Given the description of an element on the screen output the (x, y) to click on. 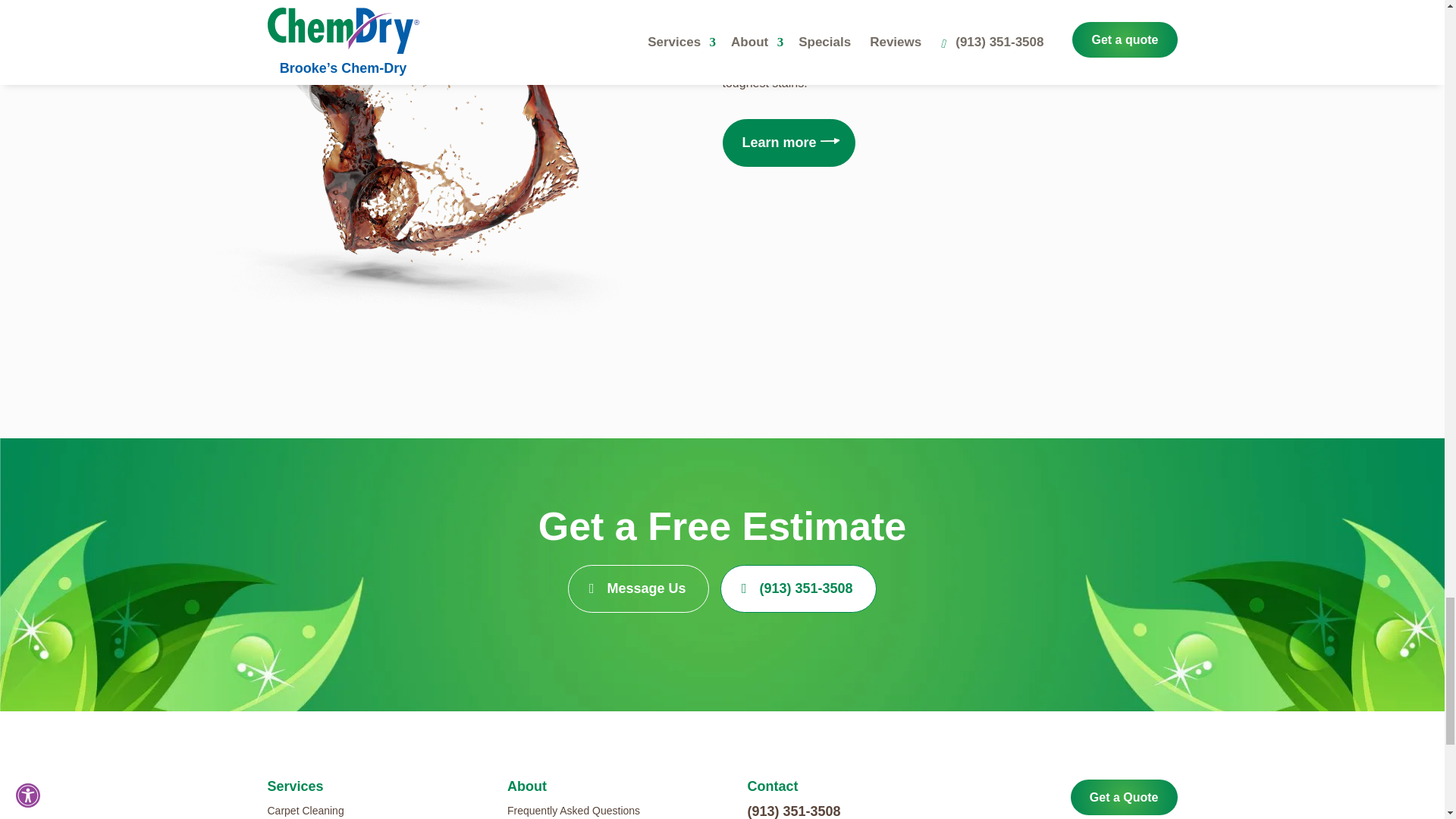
Learn more (788, 142)
